Given the description of an element on the screen output the (x, y) to click on. 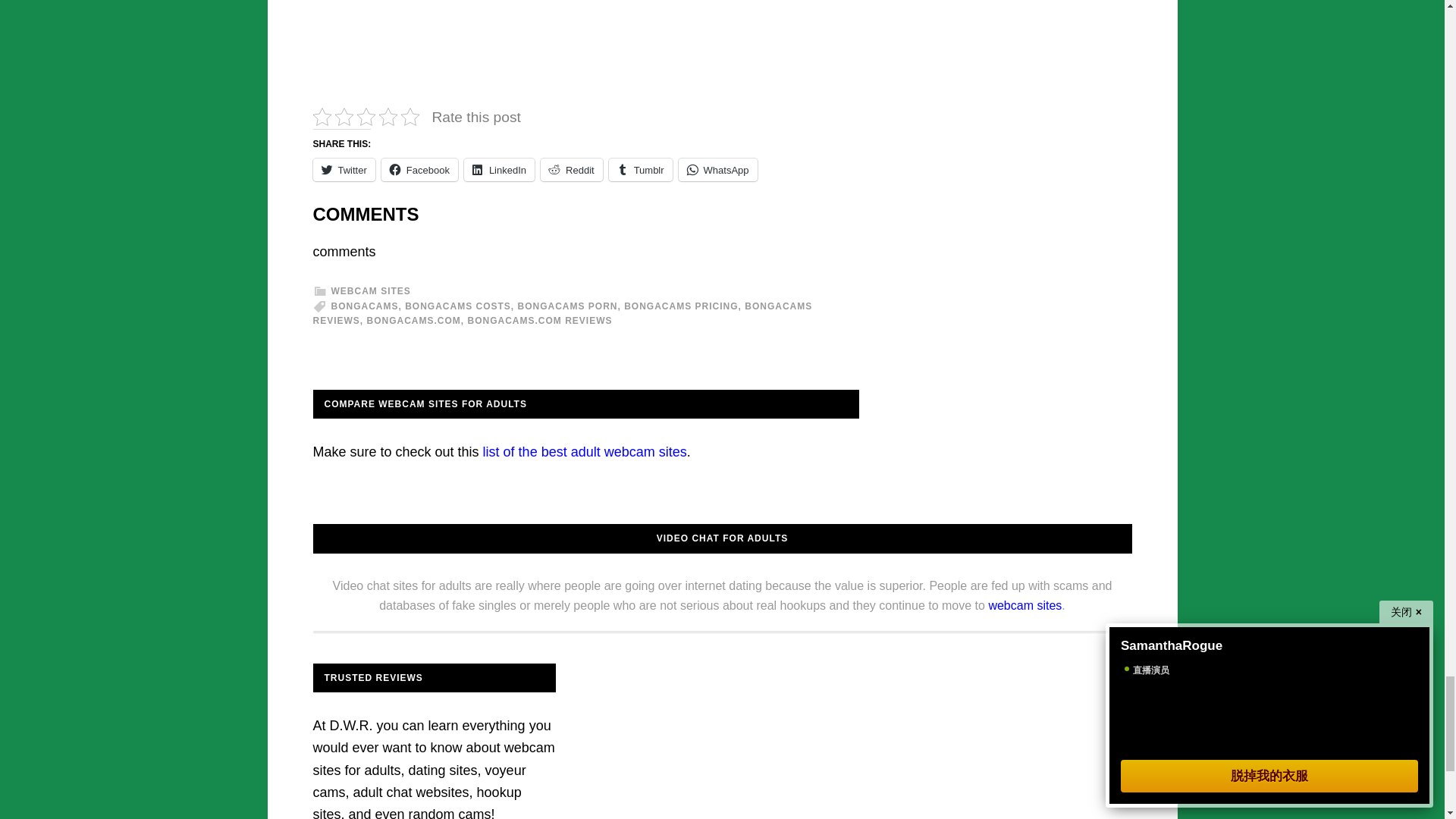
Click to share on WhatsApp (717, 169)
Click to share on LinkedIn (499, 169)
Click to share on Reddit (571, 169)
Click to share on Twitter (343, 169)
LinkedIn (499, 169)
Click to share on Tumblr (640, 169)
Facebook (419, 169)
Click to share on Facebook (419, 169)
Twitter (343, 169)
